Given the description of an element on the screen output the (x, y) to click on. 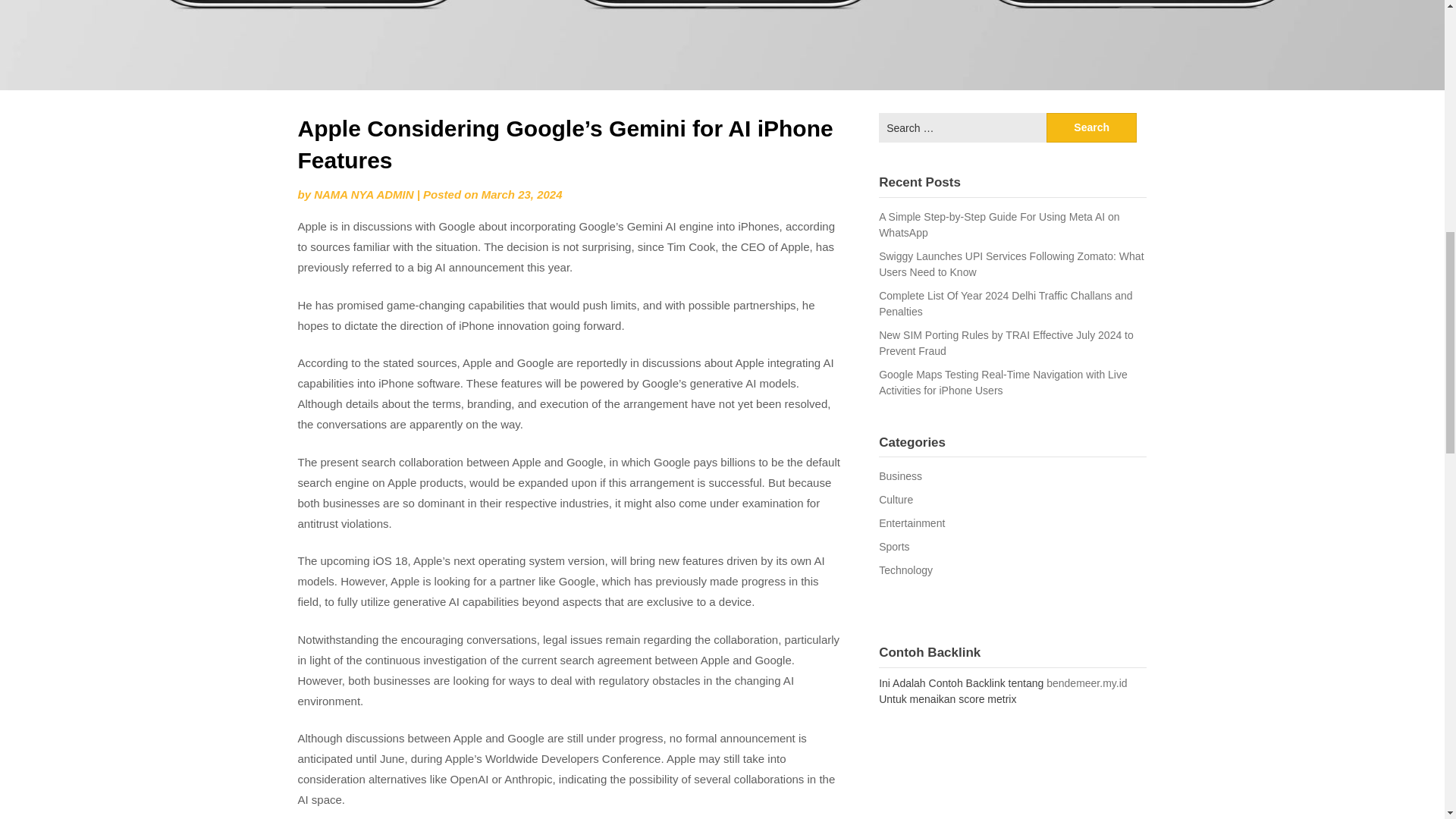
Search (1091, 127)
March 23, 2024 (521, 194)
Search (1091, 127)
A Simple Step-by-Step Guide For Using Meta AI on WhatsApp (999, 224)
NAMA NYA ADMIN (363, 194)
Search (1091, 127)
